Given the description of an element on the screen output the (x, y) to click on. 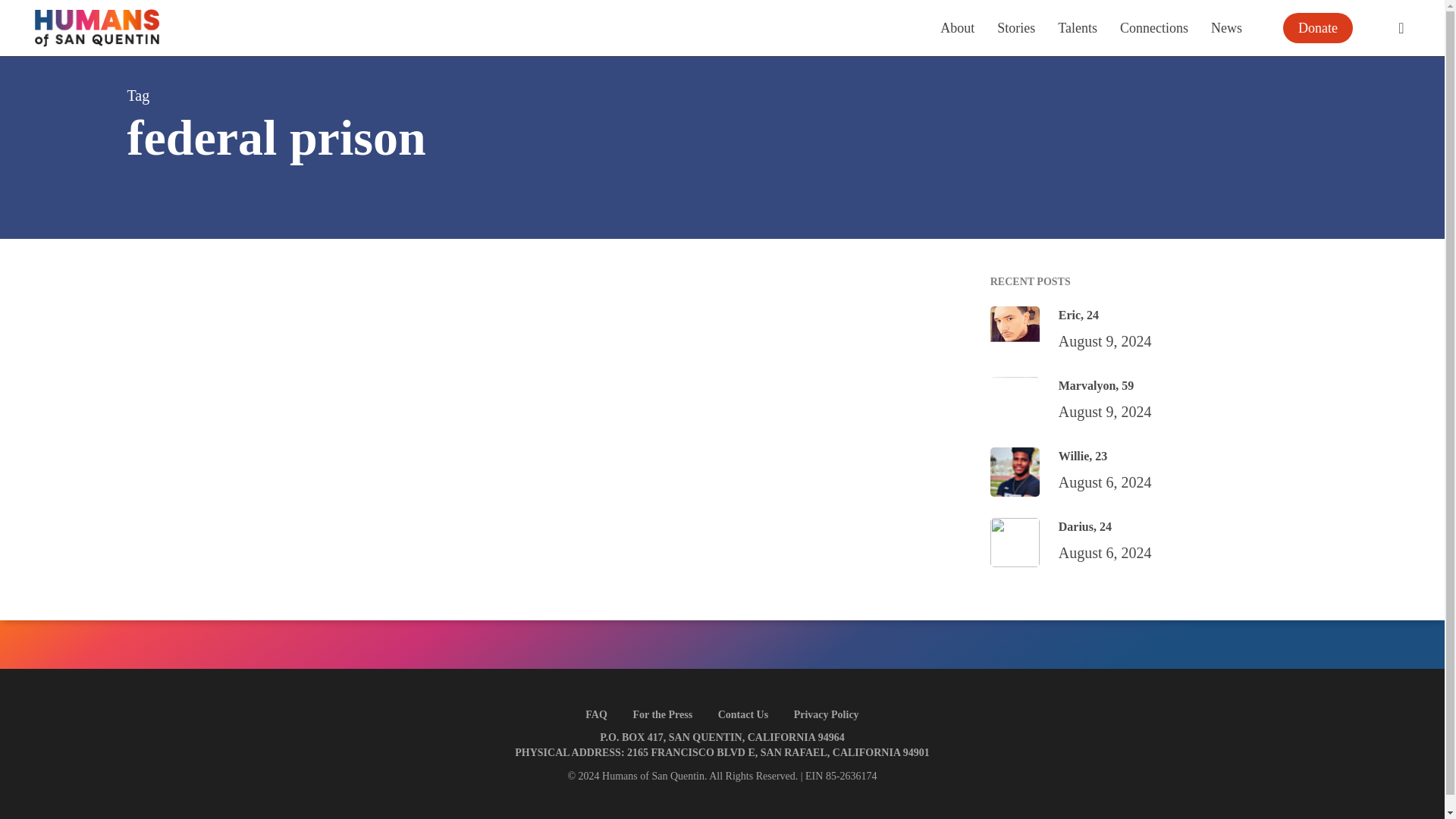
Stories (1016, 27)
About (957, 27)
News (1226, 27)
Talents (1077, 27)
Connections (1153, 27)
Donate (1318, 27)
